Given the description of an element on the screen output the (x, y) to click on. 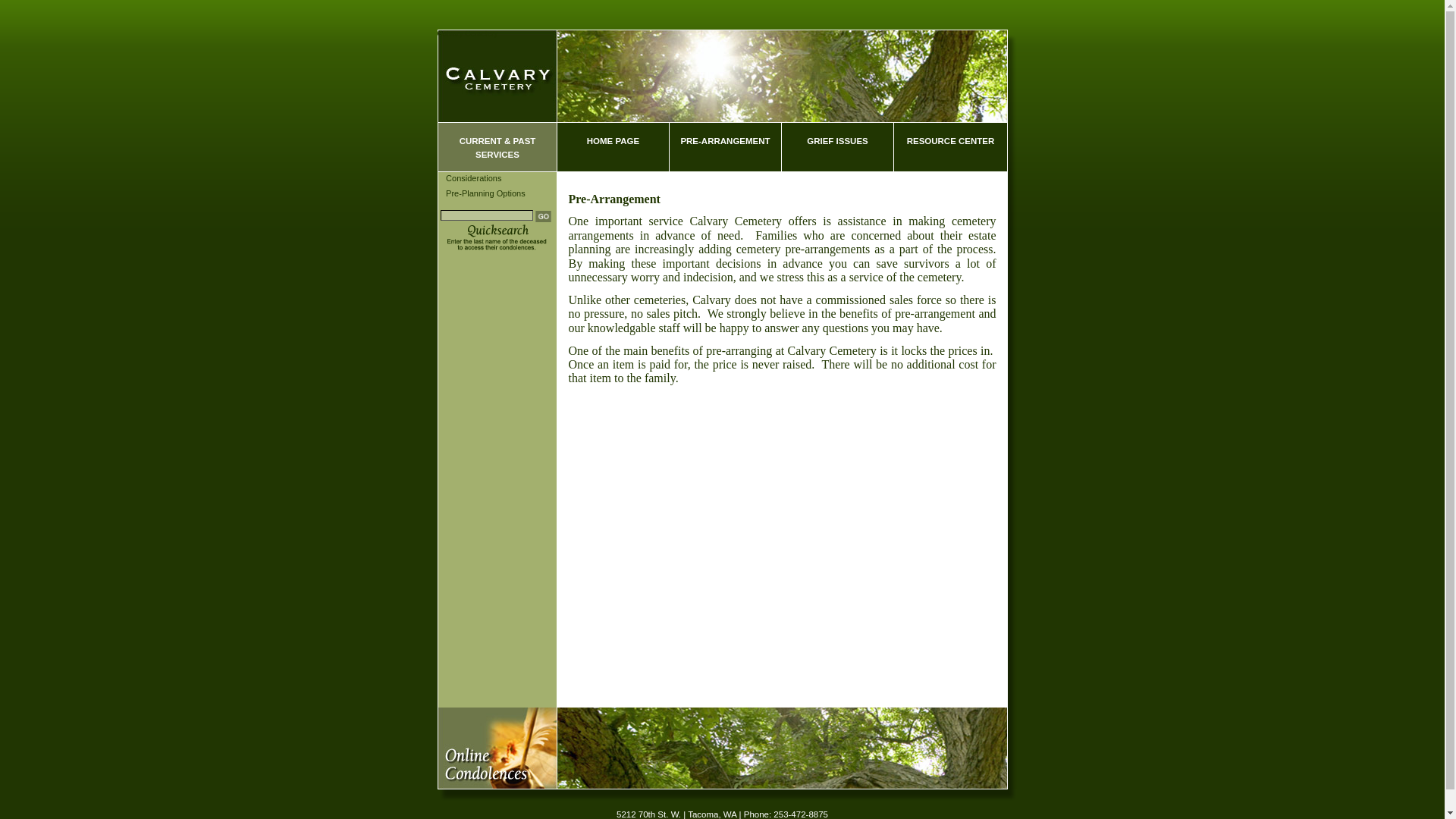
RESOURCE CENTER (950, 146)
GRIEF ISSUES (836, 146)
PRE-ARRANGEMENT (724, 146)
HOME PAGE (612, 146)
